Given the description of an element on the screen output the (x, y) to click on. 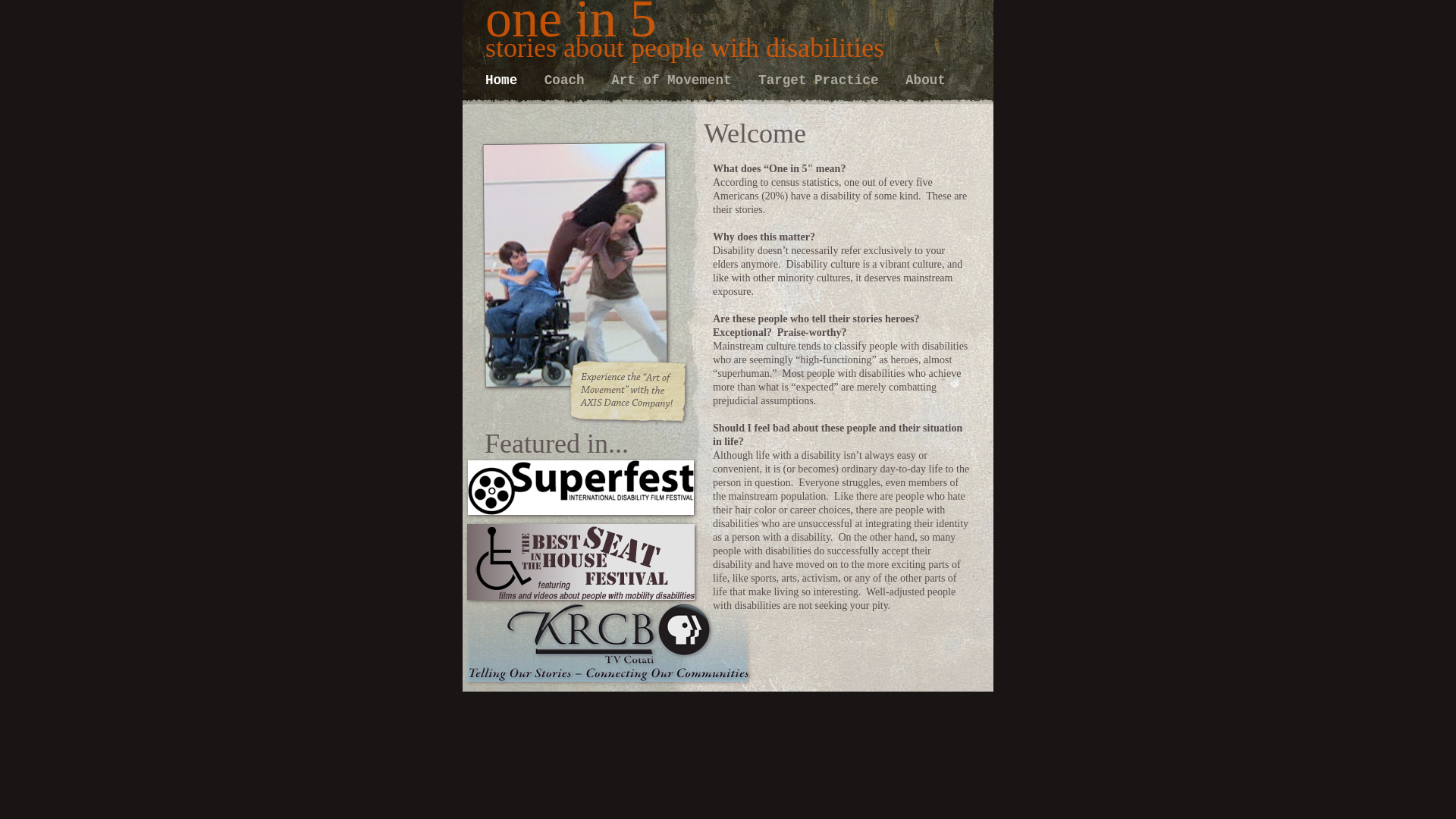
Art of Movement Element type: text (675, 79)
Home Element type: text (505, 79)
About Element type: text (925, 79)
Coach Element type: text (568, 79)
Target Practice Element type: text (822, 79)
